Given the description of an element on the screen output the (x, y) to click on. 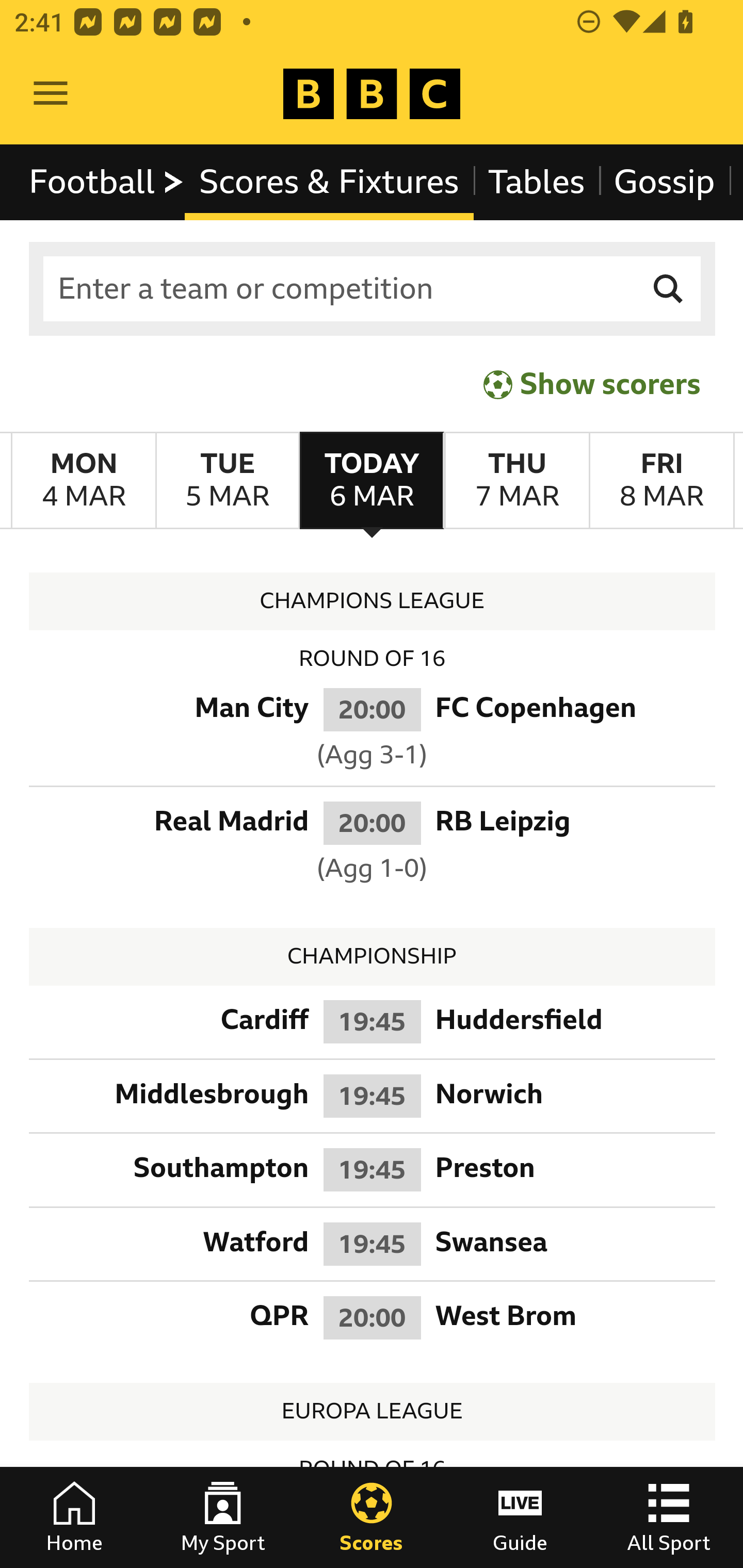
Open Menu (50, 93)
Football  (106, 181)
Scores & Fixtures (329, 181)
Tables (536, 181)
Gossip (664, 181)
Search (669, 289)
Show scorers (591, 383)
MondayMarch 4th Monday March 4th (83, 480)
TuesdayMarch 5th Tuesday March 5th (227, 480)
ThursdayMarch 7th Thursday March 7th (516, 480)
FridayMarch 8th Friday March 8th (661, 480)
Home (74, 1517)
My Sport (222, 1517)
Guide (519, 1517)
All Sport (668, 1517)
